Given the description of an element on the screen output the (x, y) to click on. 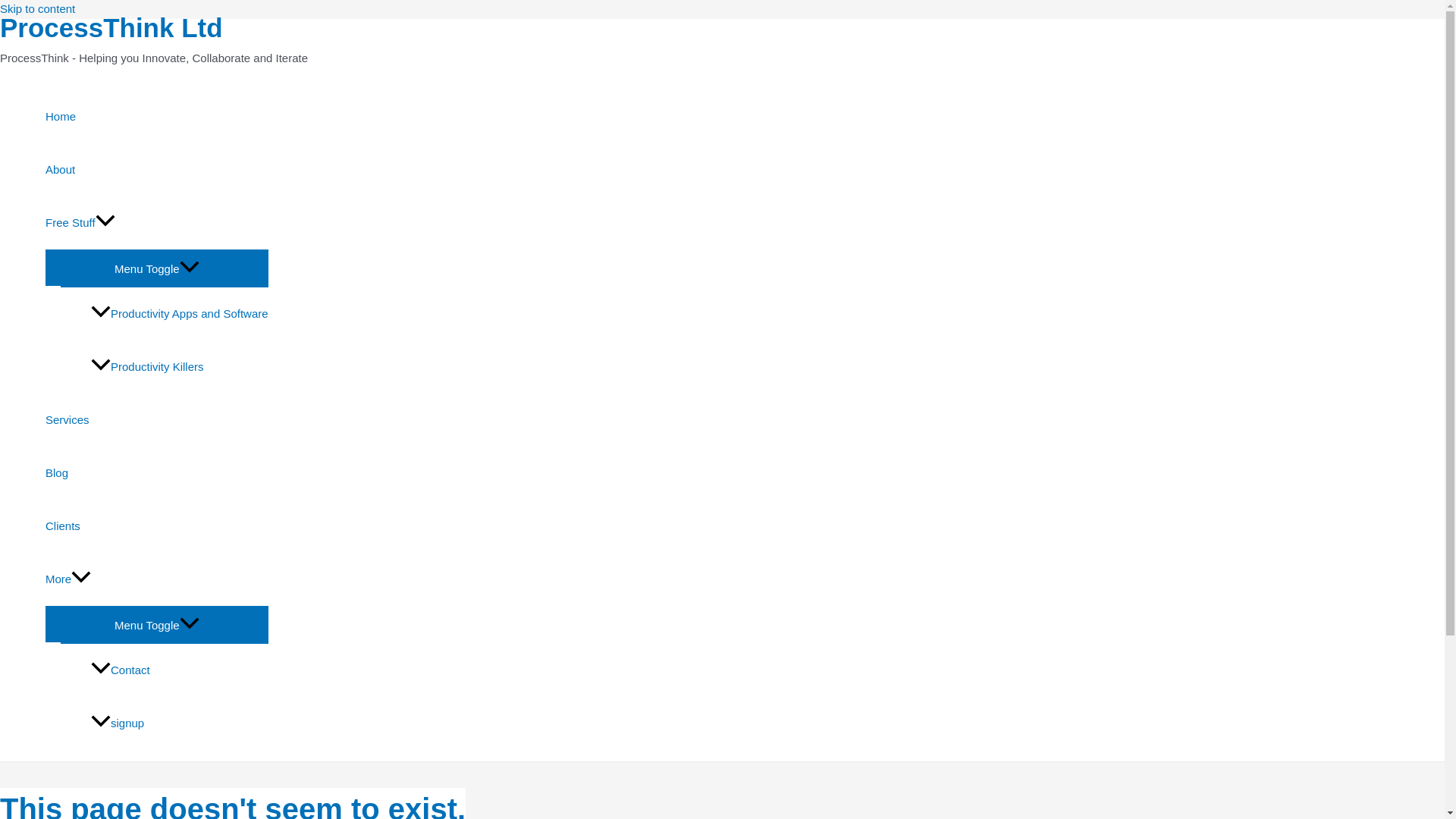
Services (156, 419)
Menu Toggle (156, 267)
Blog (156, 472)
Home (156, 116)
More (156, 579)
Skip to content (37, 8)
Productivity Apps and Software (178, 313)
Productivity Killers (178, 366)
Clients (156, 525)
Free Stuff (156, 222)
Skip to content (37, 8)
ProcessThink Ltd (111, 27)
Contact (178, 669)
About (156, 169)
signup (178, 723)
